Given the description of an element on the screen output the (x, y) to click on. 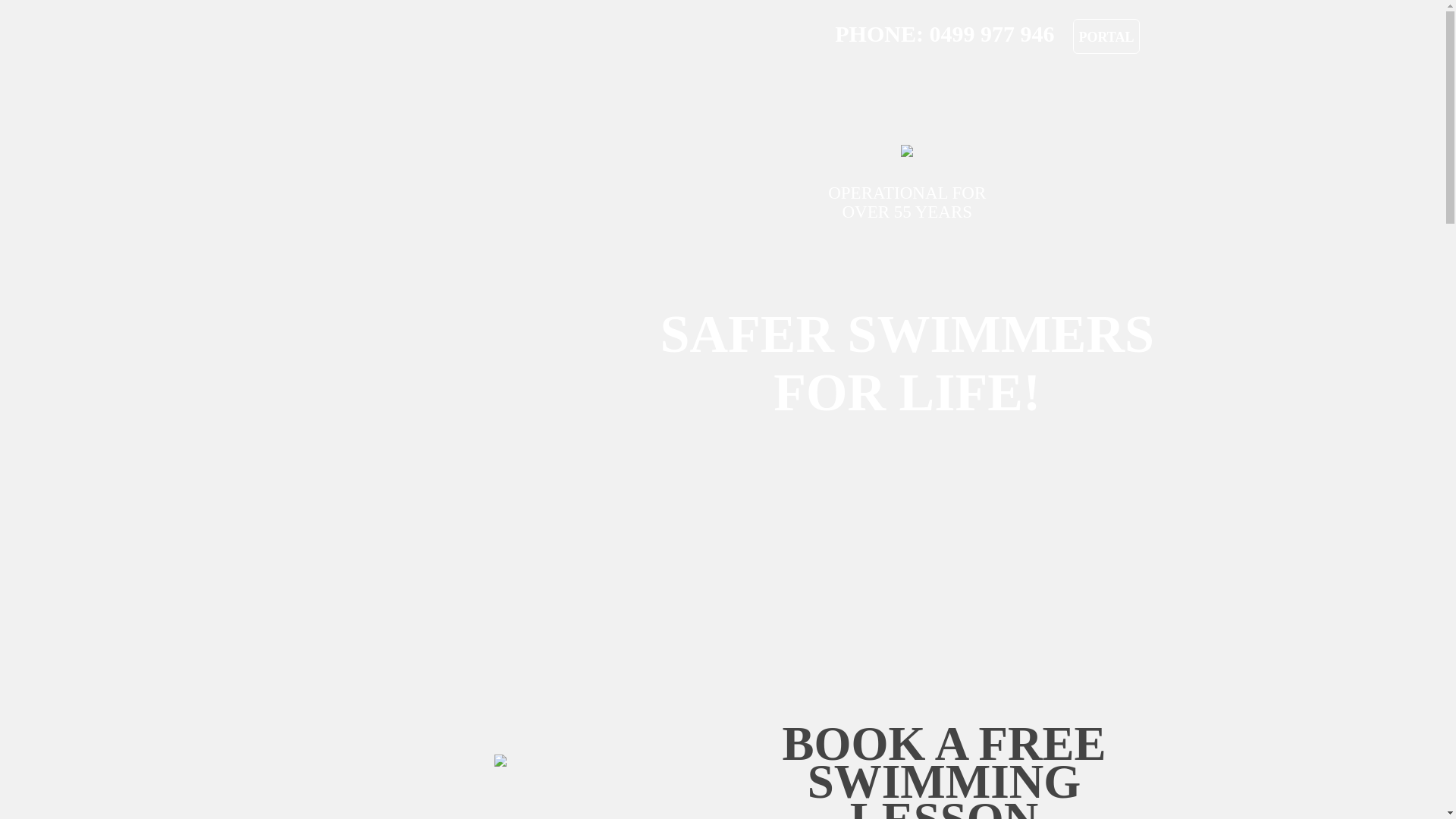
PHONE: 0499 977 946 Element type: text (944, 33)
PORTAL Element type: text (1106, 35)
